Given the description of an element on the screen output the (x, y) to click on. 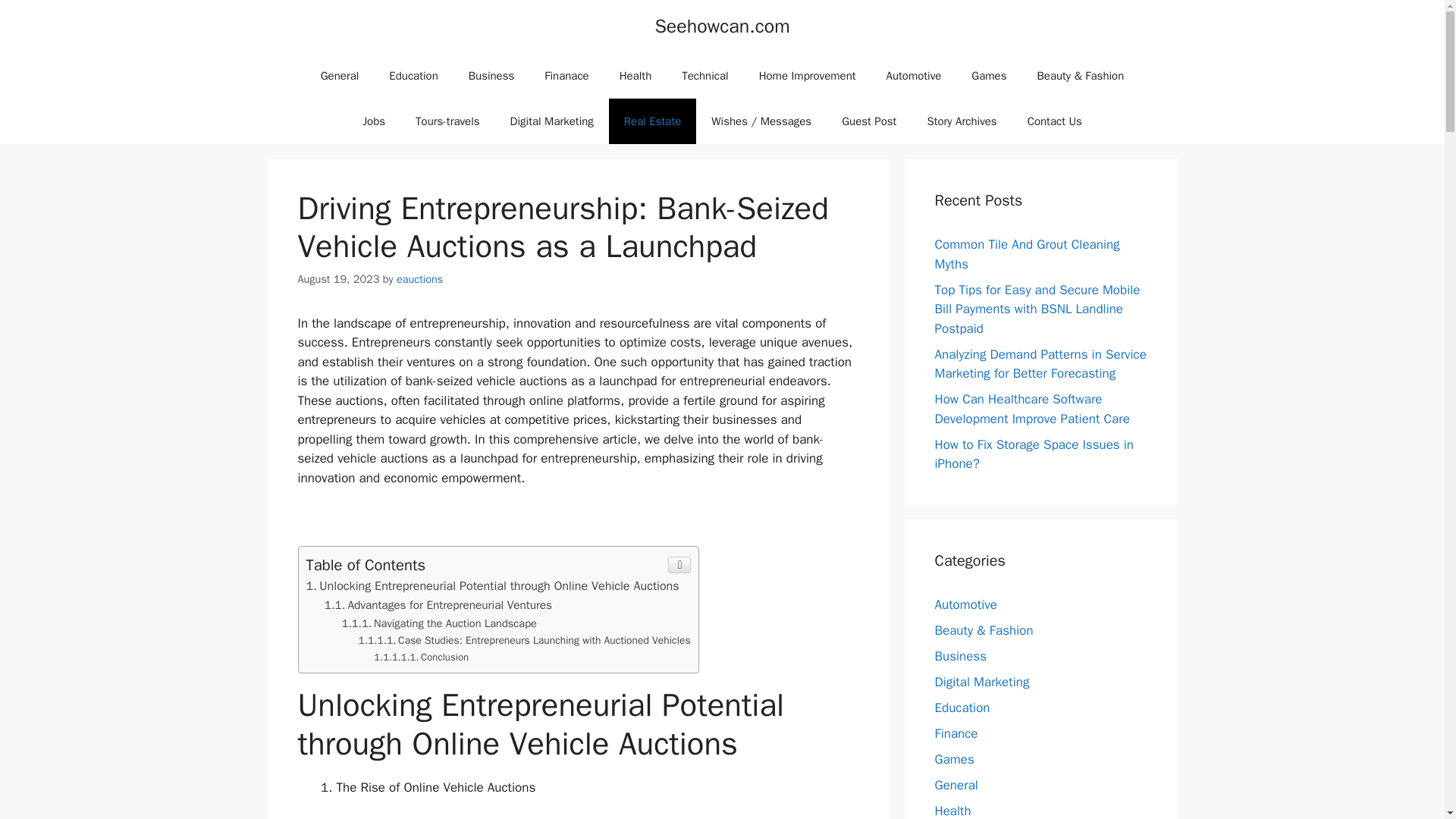
Finanace (566, 75)
Guest Post (869, 121)
View all posts by eauctions (419, 278)
eauctions (419, 278)
Navigating the Auction Landscape (439, 622)
Navigating the Auction Landscape (439, 622)
Home Improvement (807, 75)
Tours-travels (447, 121)
Jobs (373, 121)
Conclusion (421, 656)
Automotive (913, 75)
Technical (704, 75)
Education (413, 75)
